Given the description of an element on the screen output the (x, y) to click on. 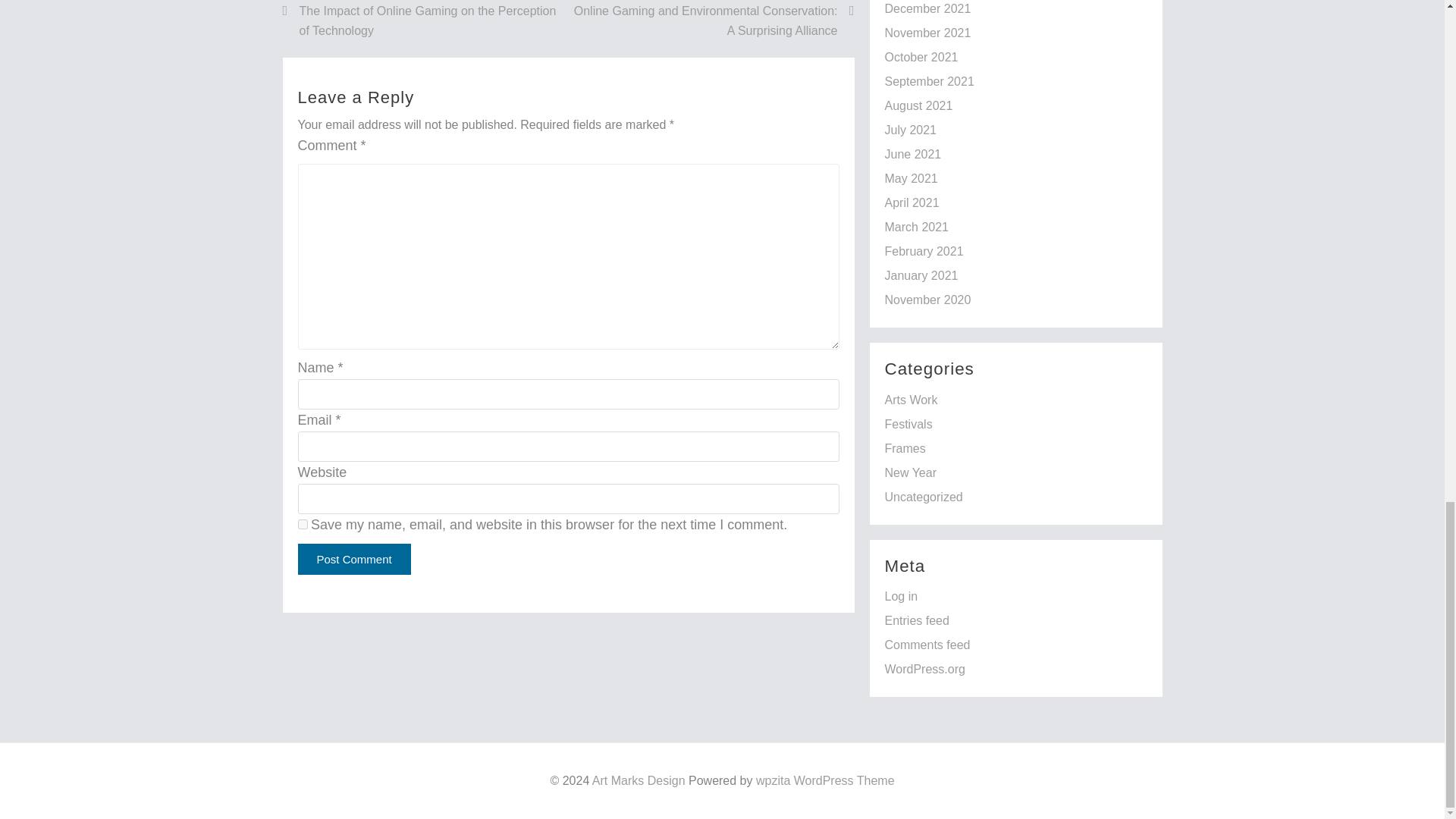
Post Comment (353, 558)
The Impact of Online Gaming on the Perception of Technology (424, 20)
yes (302, 524)
Post Comment (353, 558)
